Given the description of an element on the screen output the (x, y) to click on. 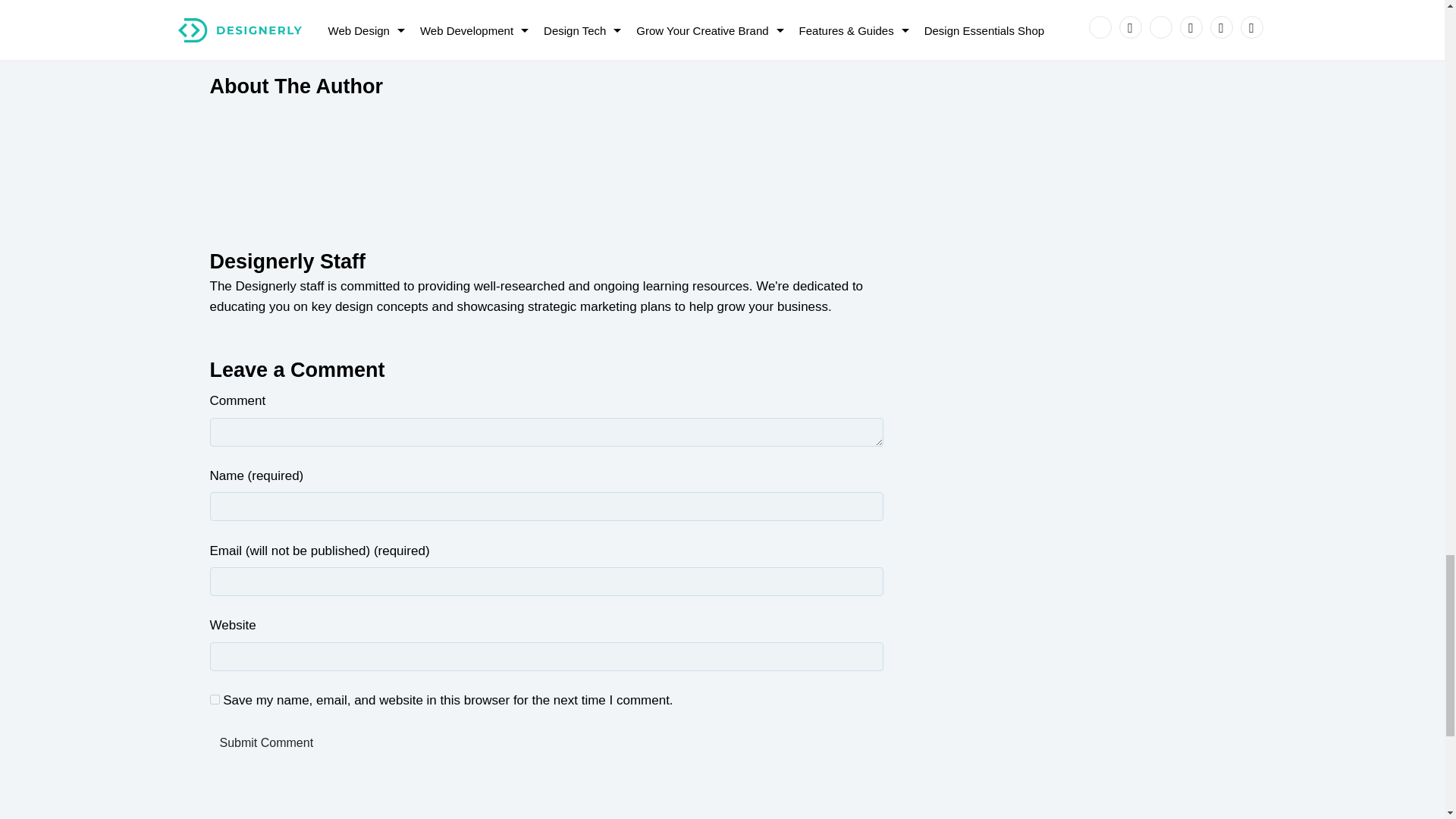
yes (214, 699)
Submit Comment (266, 742)
